Given the description of an element on the screen output the (x, y) to click on. 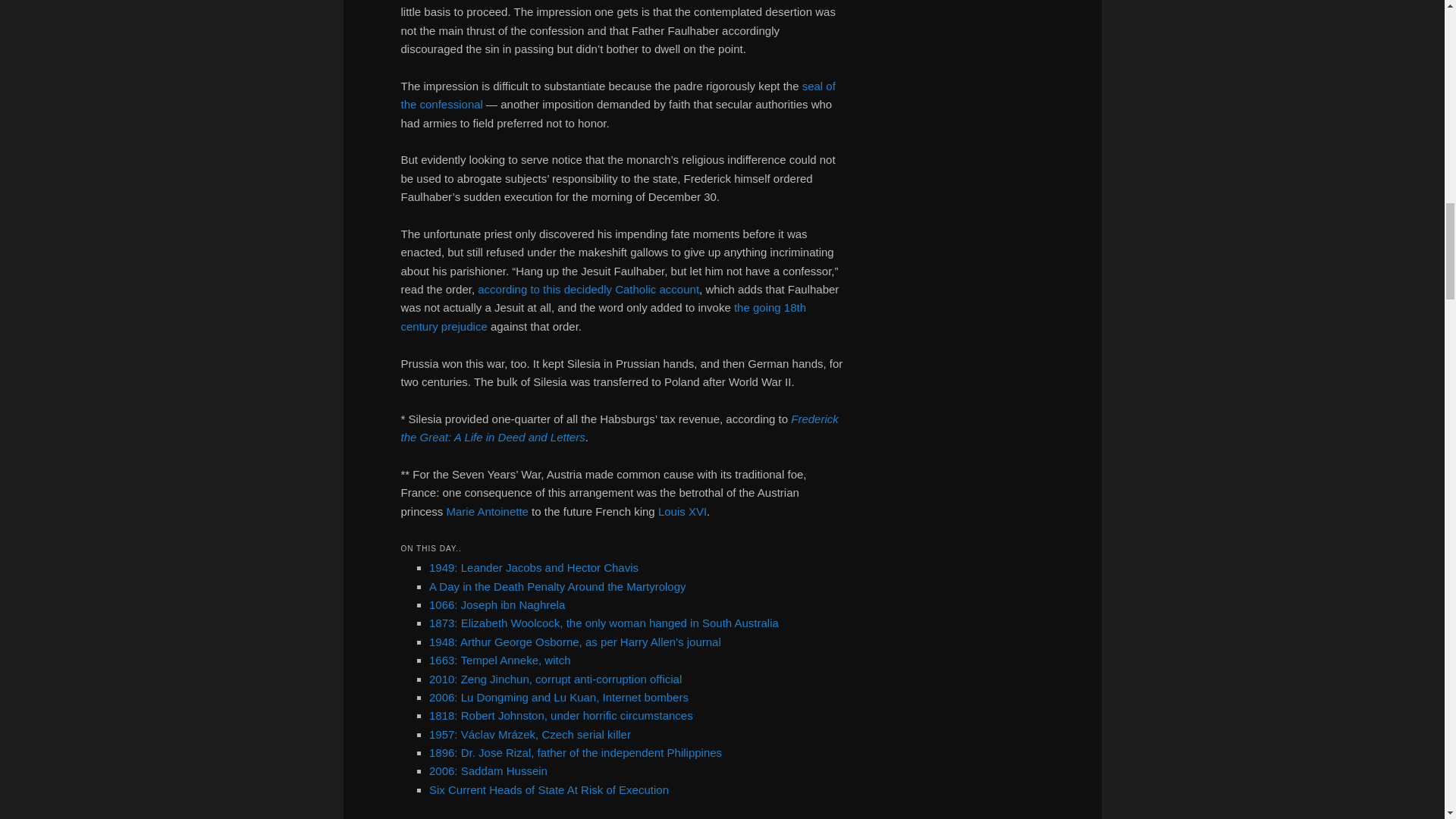
Marie Antoinette (487, 511)
2010: Zeng Jinchun, corrupt anti-corruption official (555, 678)
A Day in the Death Penalty Around the Martyrology (557, 585)
seal of the confessional (617, 94)
the going 18th century prejudice (603, 316)
1818: Robert Johnston, under horrific circumstances (561, 715)
Louis XVI (682, 511)
1948: Arthur George Osborne, as per Harry Allen's journal (574, 641)
Frederick the Great: A Life in Deed and Letters (619, 427)
according to this decidedly Catholic account (587, 288)
